Given the description of an element on the screen output the (x, y) to click on. 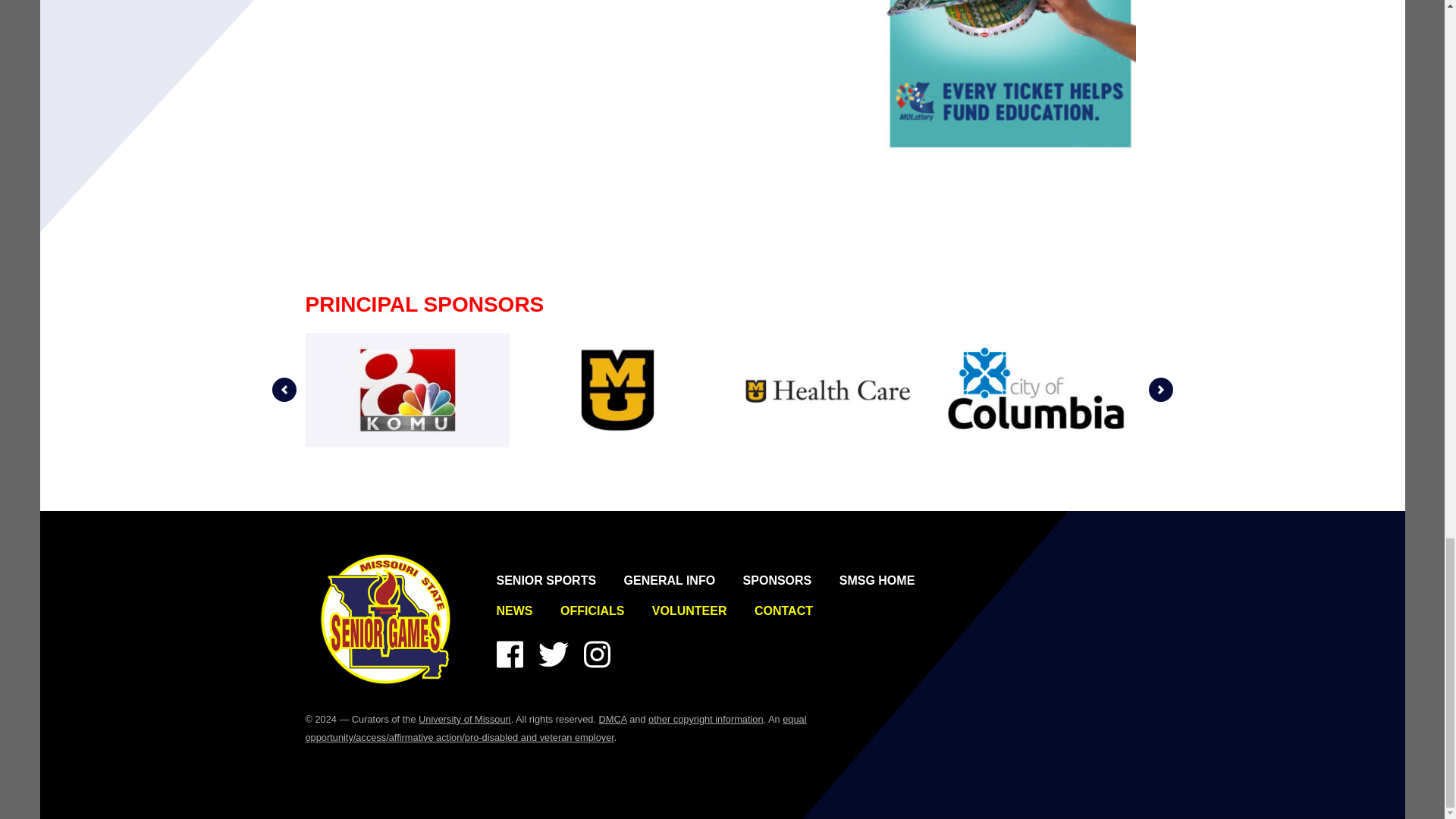
City of Columbia (1038, 389)
KOMU TV-8 (406, 389)
PRINCIPAL SPONSORS (423, 304)
University of Missouri Health System (826, 389)
University of Missouri (617, 389)
